Given the description of an element on the screen output the (x, y) to click on. 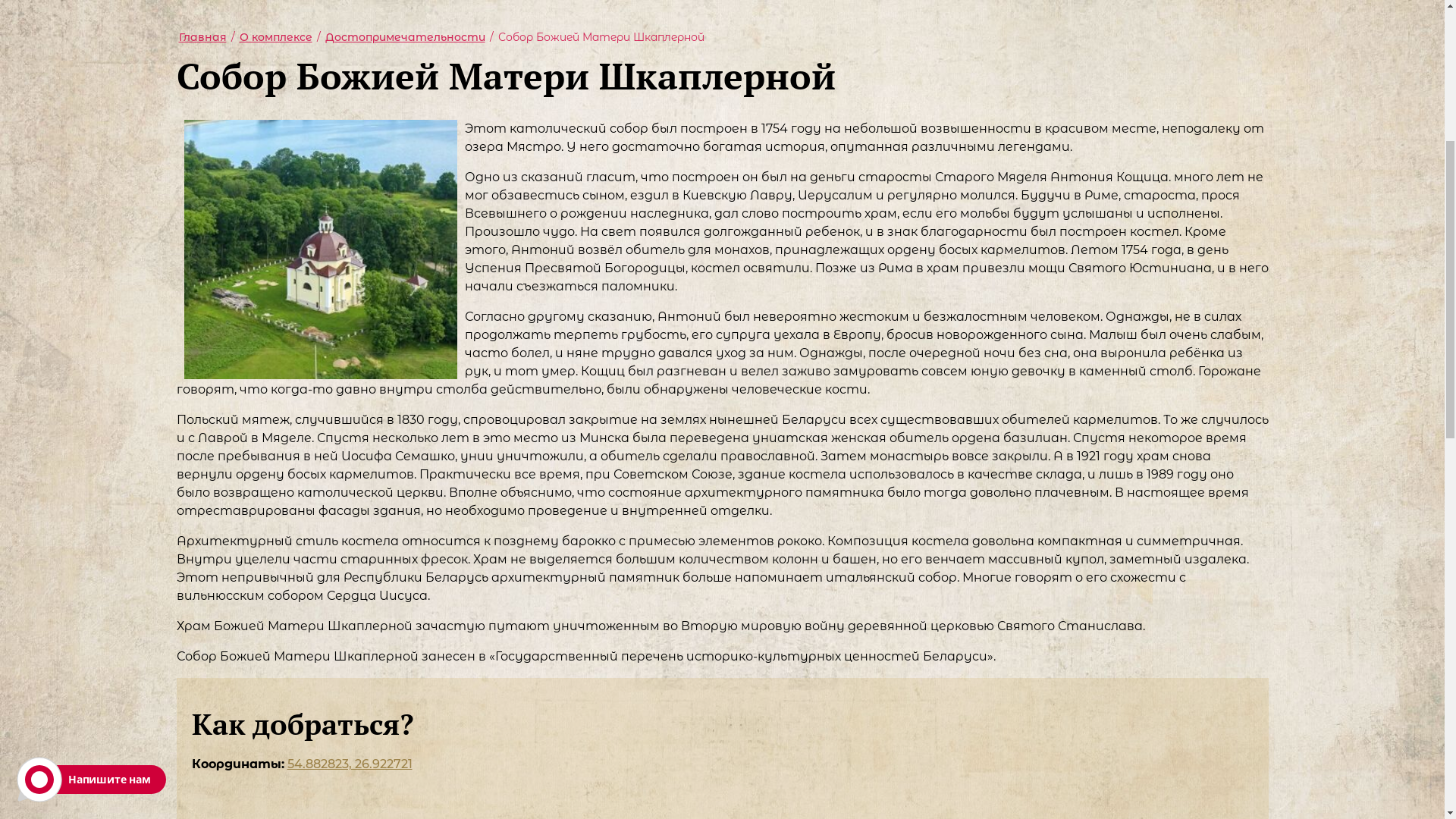
+375 (29) 620-52-56 Element type: text (1121, 74)
+375 (29) 620-52-53 Element type: text (1121, 142)
GPS 54.861611, 26.711610 Element type: text (288, 113)
info@nanosyotdyh.by Element type: text (288, 135)
